Given the description of an element on the screen output the (x, y) to click on. 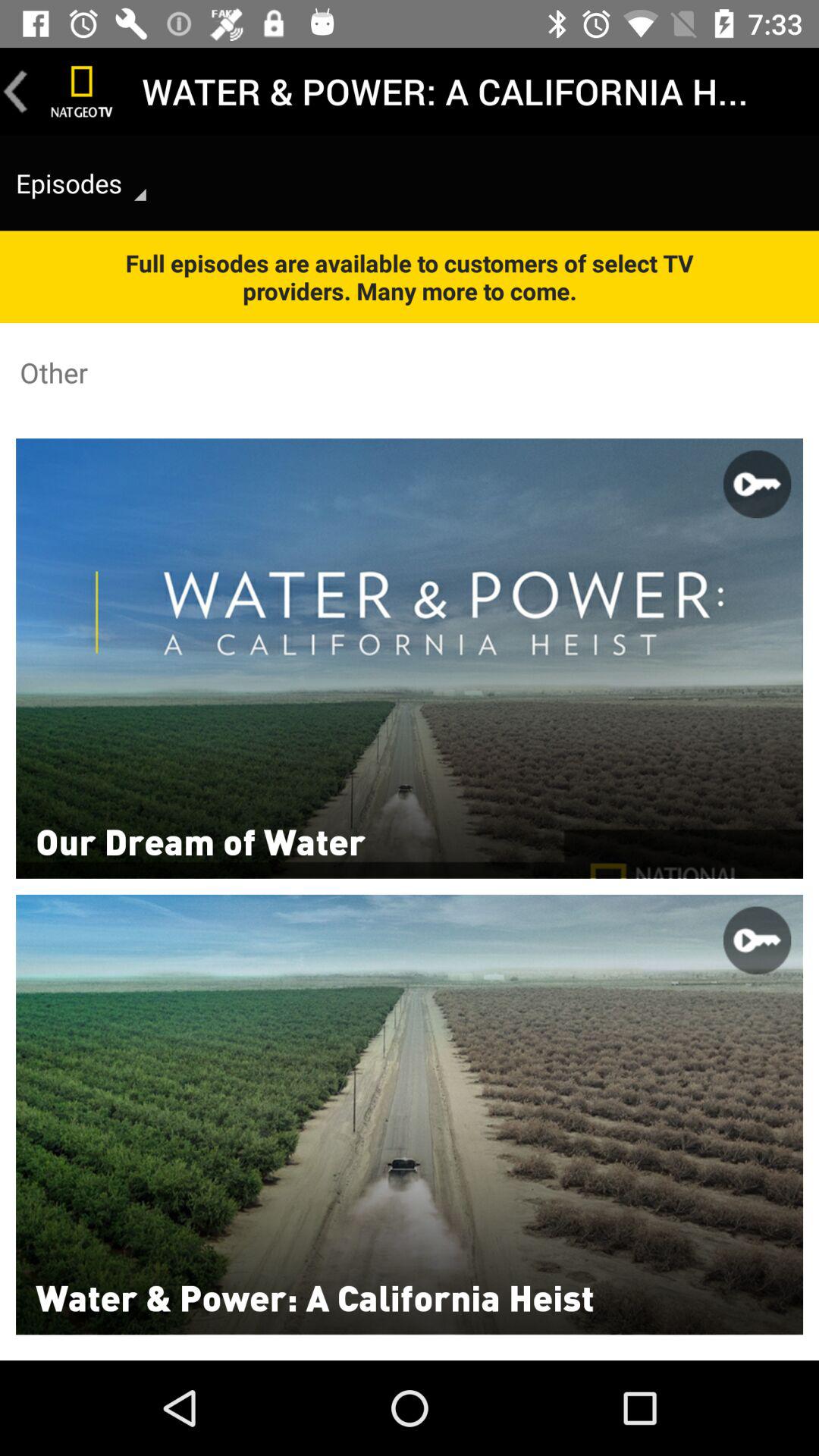
select icon above episodes icon (15, 91)
